Given the description of an element on the screen output the (x, y) to click on. 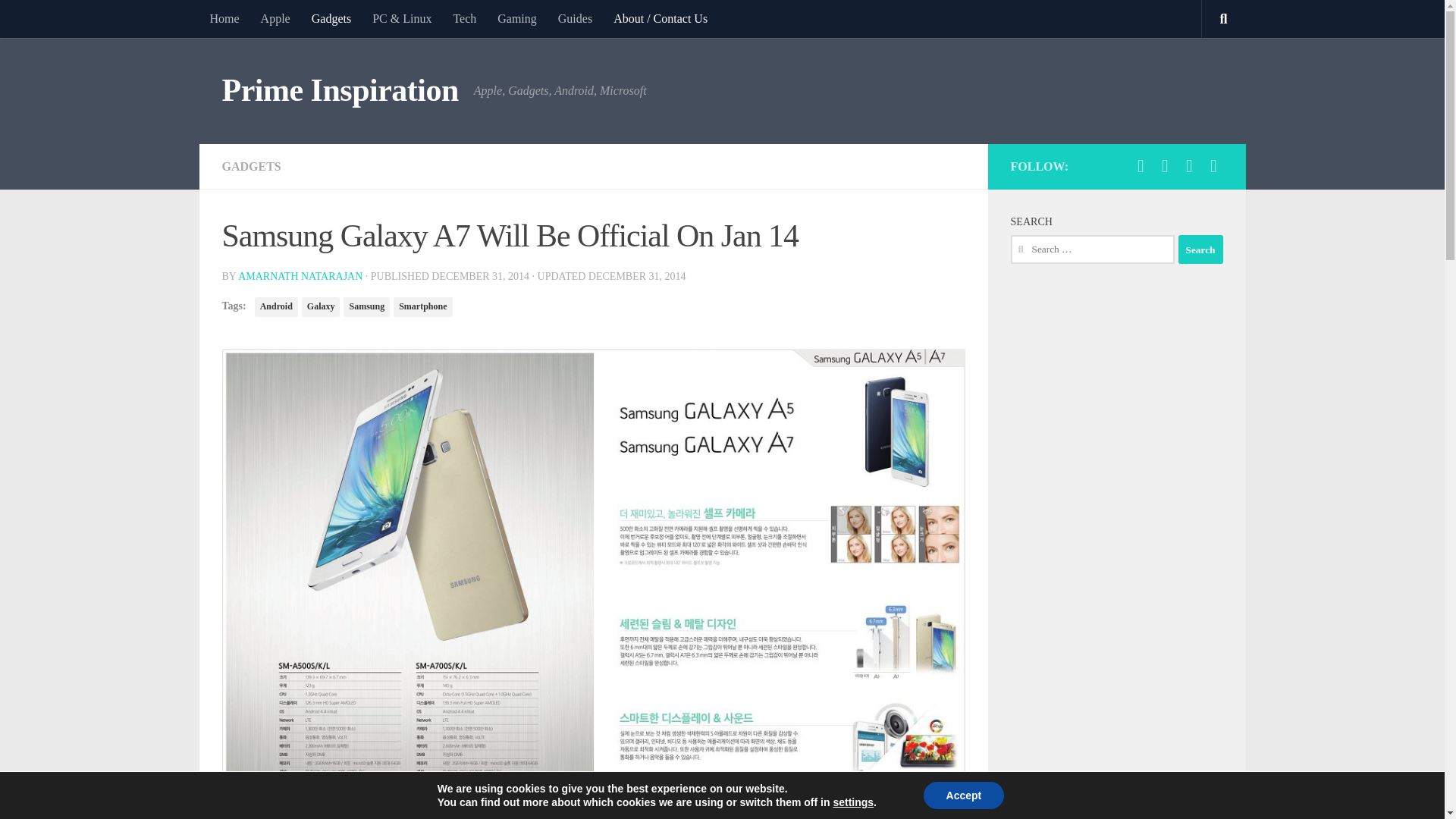
GADGETS (251, 165)
Home (223, 18)
Gadgets (331, 18)
Skip to content (59, 20)
Search (1200, 249)
Gaming (516, 18)
Smartphone (422, 306)
Search (1200, 249)
AMARNATH NATARAJAN (300, 276)
Android (276, 306)
About (659, 18)
Posts by Amarnath Natarajan (300, 276)
Guides (574, 18)
Apple (275, 18)
Prime Inspiration (339, 90)
